Given the description of an element on the screen output the (x, y) to click on. 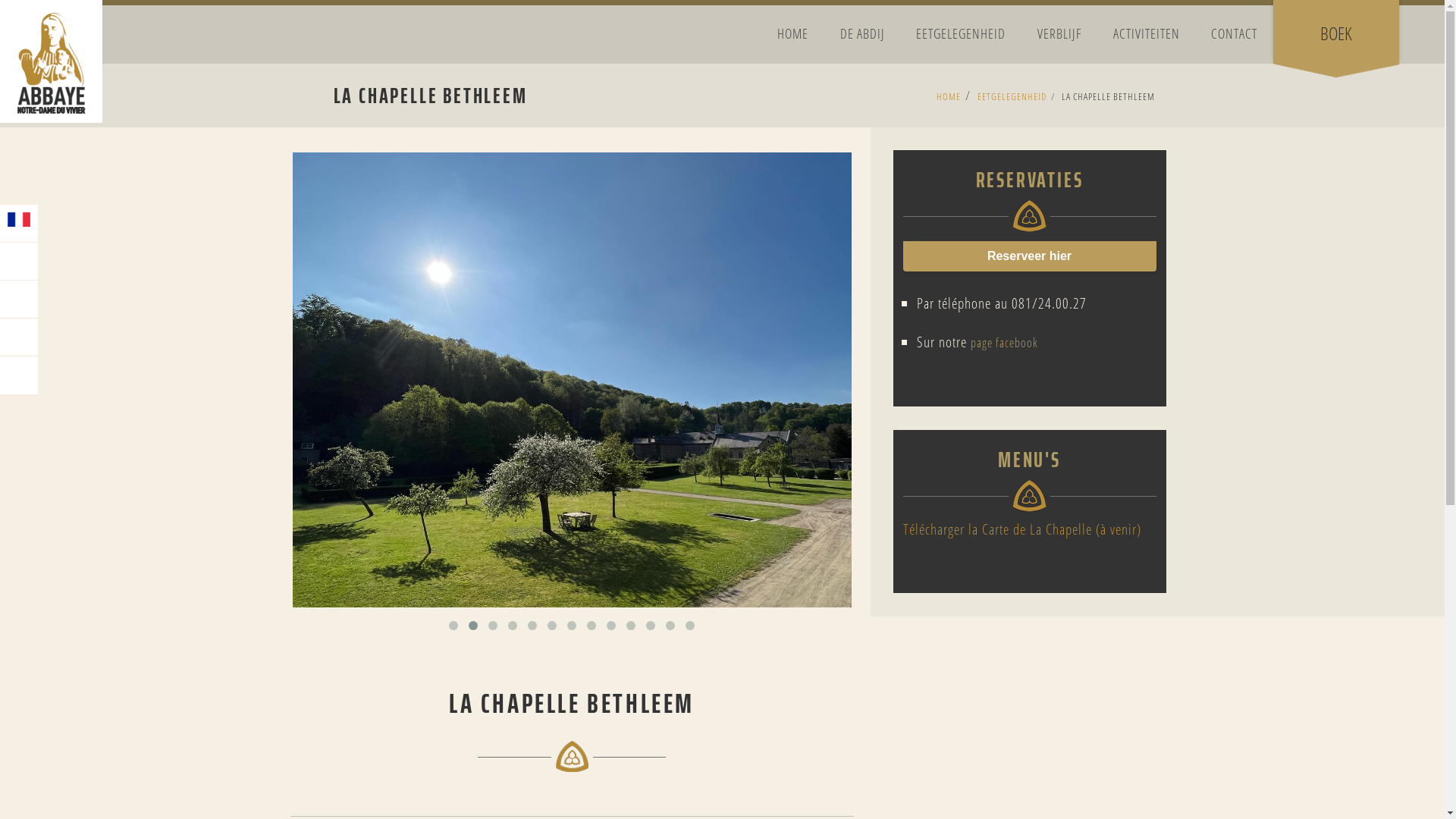
BOEK Element type: text (1336, 32)
EETGELEGENHEID Element type: text (1010, 96)
DE ABDIJ Element type: text (862, 33)
CONTACT Element type: text (1234, 33)
page facebook Element type: text (1004, 342)
Reserveer hier Element type: text (1028, 256)
EETGELEGENHEID Element type: text (961, 33)
VERBLIJF Element type: text (1059, 33)
ACTIVITEITEN Element type: text (1146, 33)
Abbaye Notre Dame Du Vivier  Element type: hover (51, 61)
HOME Element type: text (947, 96)
HOME Element type: text (792, 33)
